Given the description of an element on the screen output the (x, y) to click on. 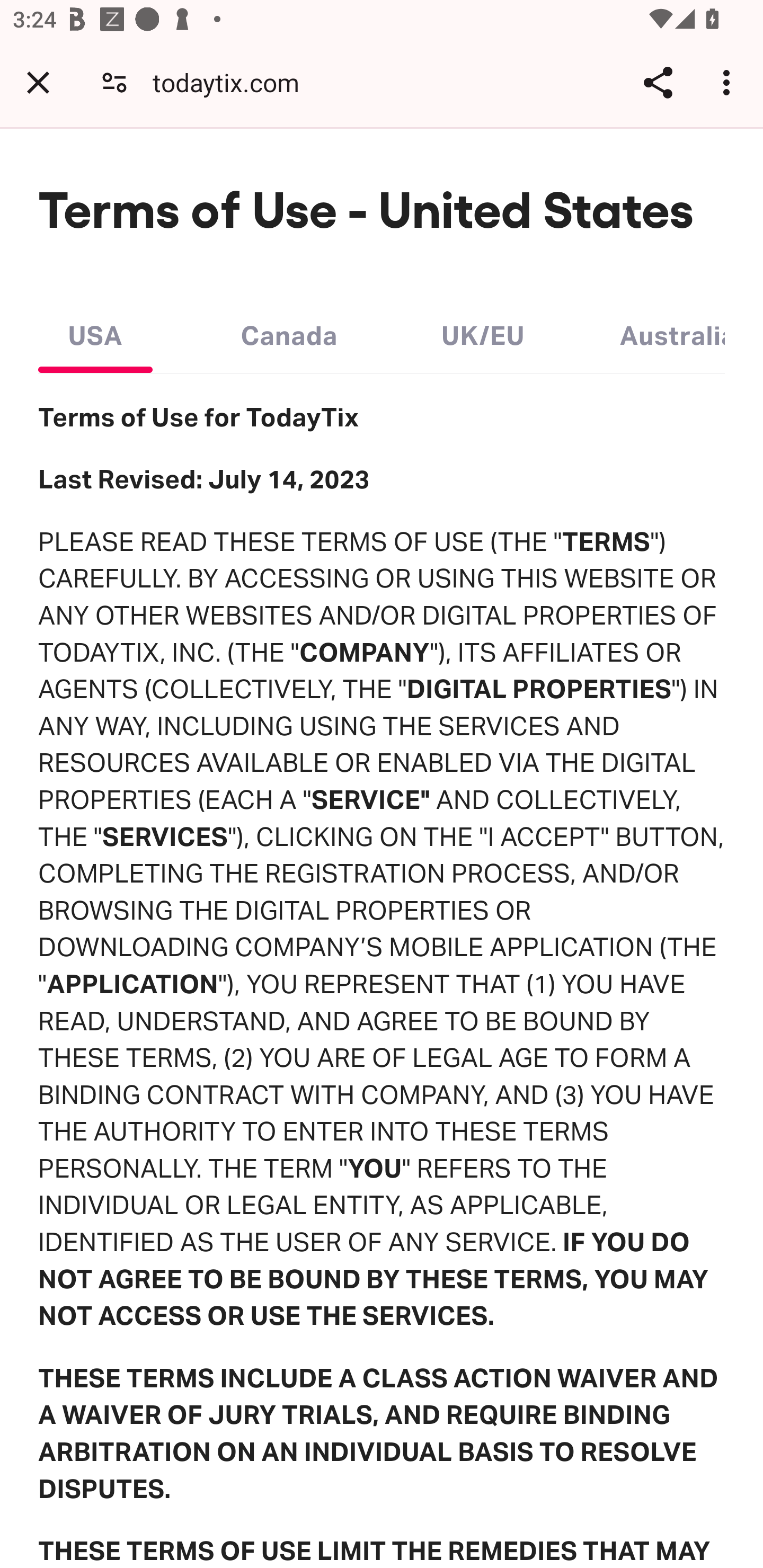
Close tab (38, 82)
Share (657, 82)
Customize and control Google Chrome (729, 82)
Connection is secure (114, 81)
todaytix.com (232, 81)
USA (95, 330)
Canada (288, 330)
UK/EU (482, 330)
Australia (671, 330)
